Given the description of an element on the screen output the (x, y) to click on. 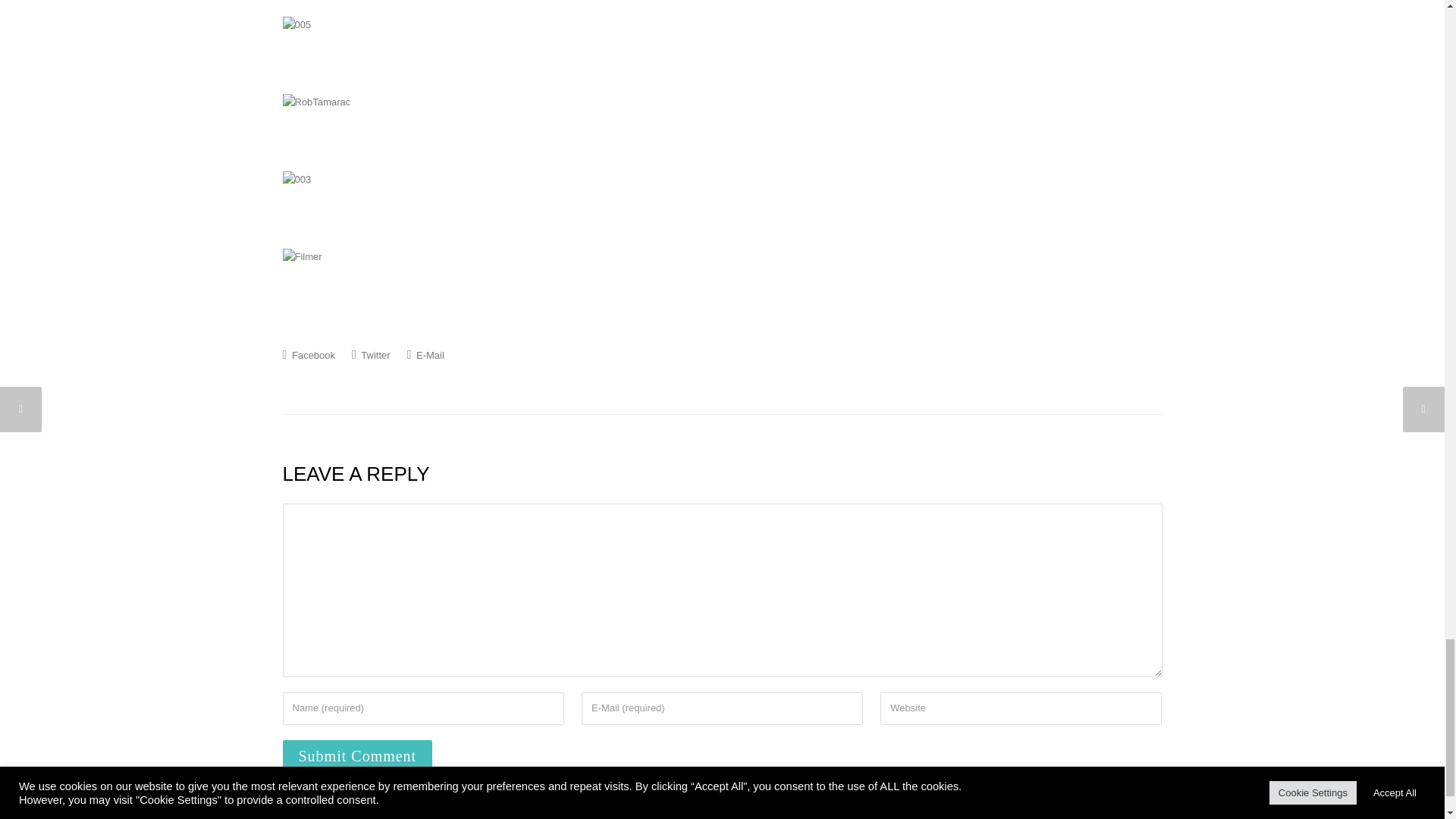
E-Mail (425, 354)
Submit Comment (357, 756)
Twitter (371, 354)
Website (1020, 708)
Submit Comment (357, 756)
Facebook (308, 354)
